Given the description of an element on the screen output the (x, y) to click on. 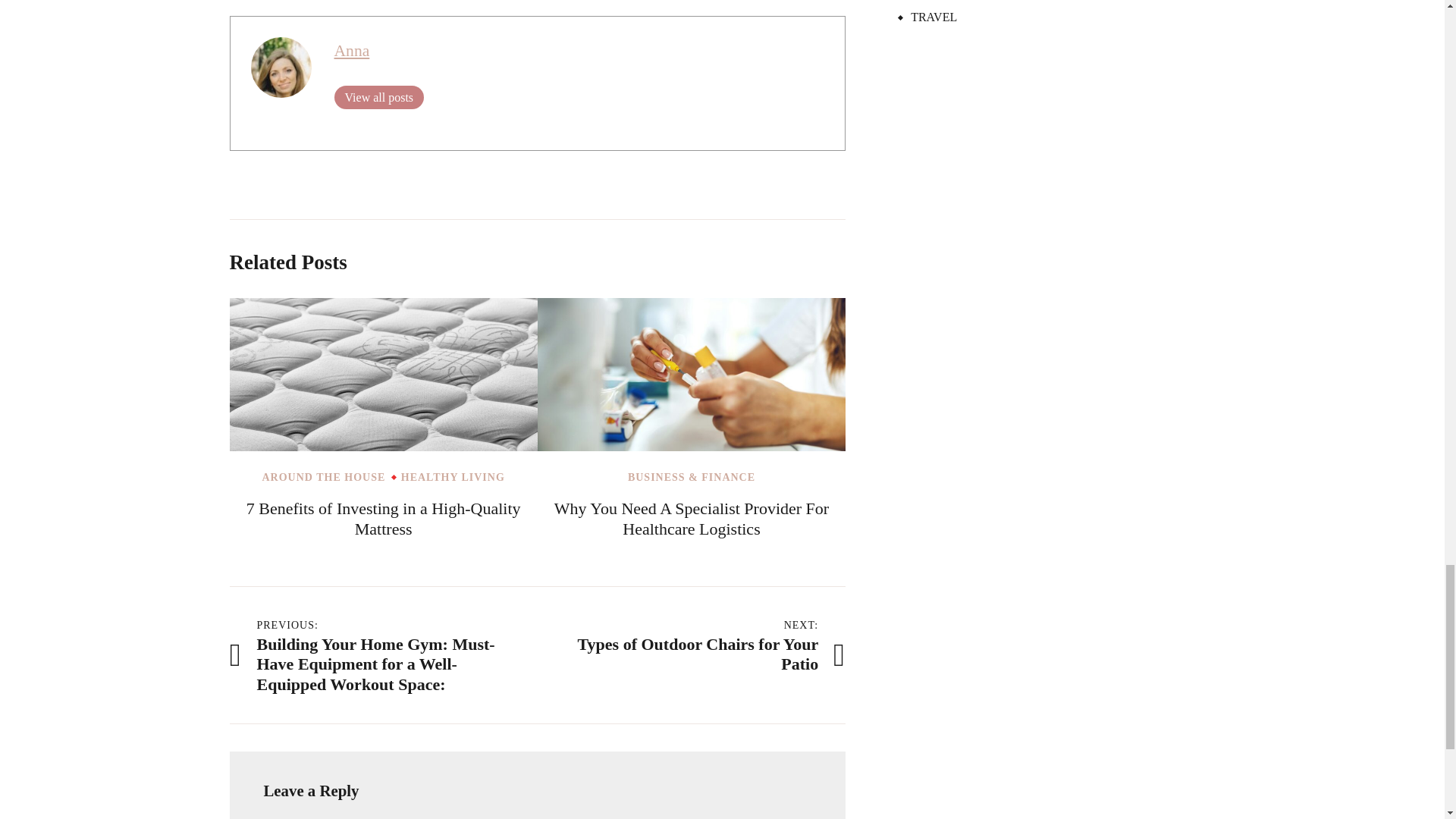
AROUND THE HOUSE (323, 477)
HEALTHY LIVING (452, 477)
Why You Need A Specialist Provider For Healthcare Logistics (691, 518)
Anna (351, 50)
View all posts (378, 96)
7 Benefits of Investing in a High-Quality Mattress (383, 518)
View all posts (378, 96)
Anna (351, 50)
